Given the description of an element on the screen output the (x, y) to click on. 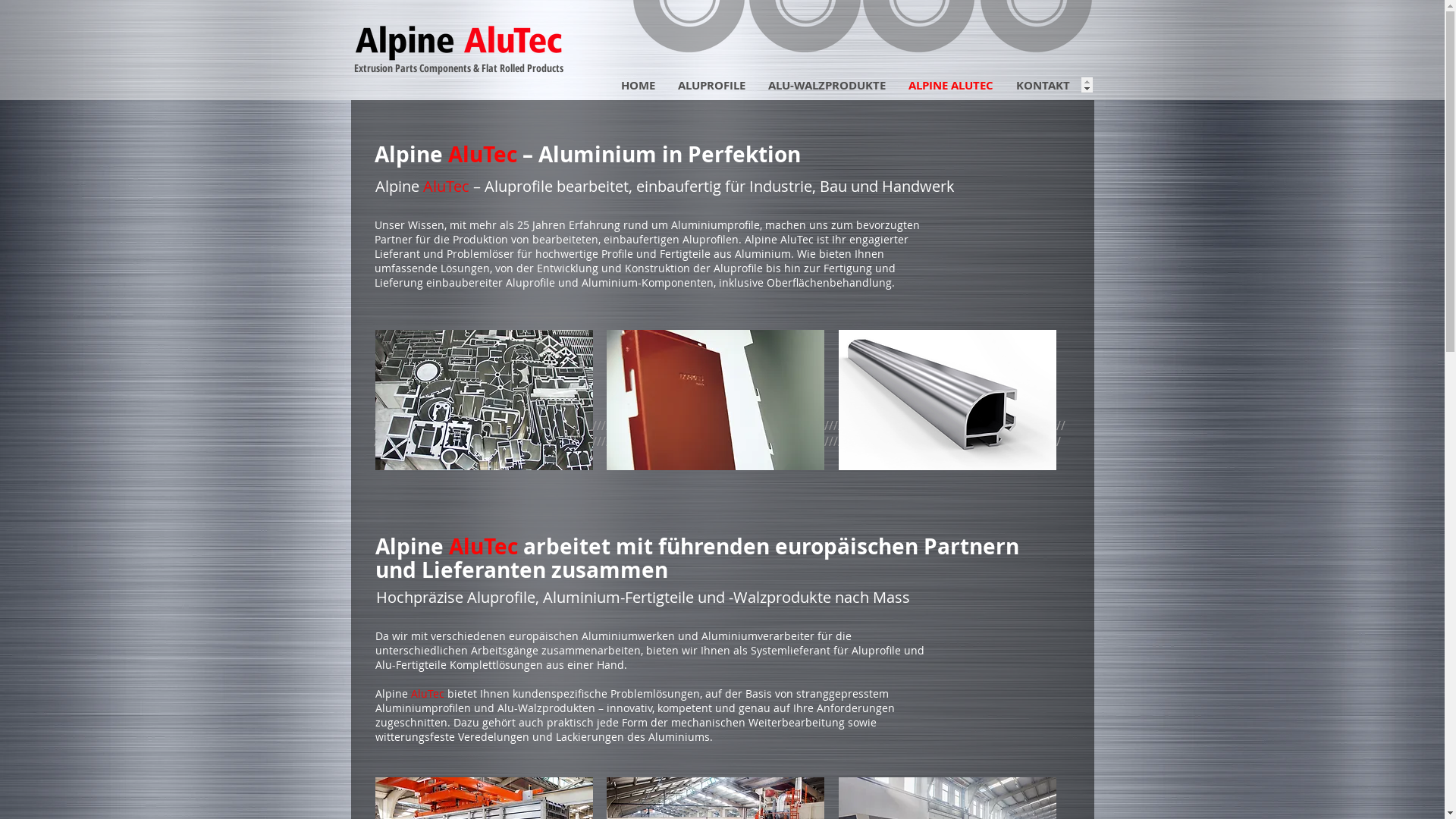
ALPINE ALUTEC Element type: text (950, 84)
ALUPROFILE Element type: text (710, 84)
ALU-WALZPRODUKTE Element type: text (826, 84)
KONTAKT Element type: text (1042, 84)
Otefal_261.jpg Element type: hover (715, 399)
HOME Element type: text (637, 84)
Aluprofile_3.png Element type: hover (947, 399)
Alpine-AluTec_Logo.png Element type: hover (459, 45)
